Given the description of an element on the screen output the (x, y) to click on. 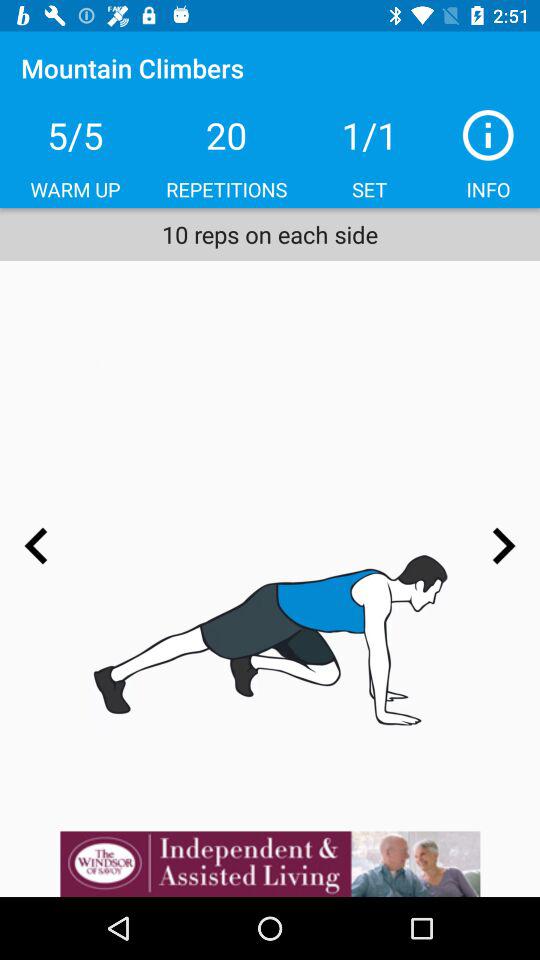
go back (36, 545)
